Given the description of an element on the screen output the (x, y) to click on. 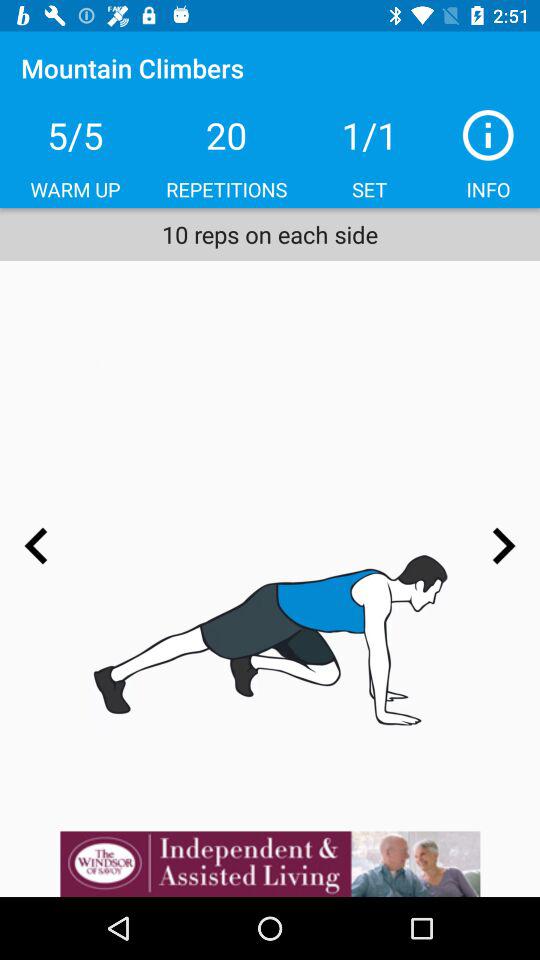
go back (36, 545)
